Given the description of an element on the screen output the (x, y) to click on. 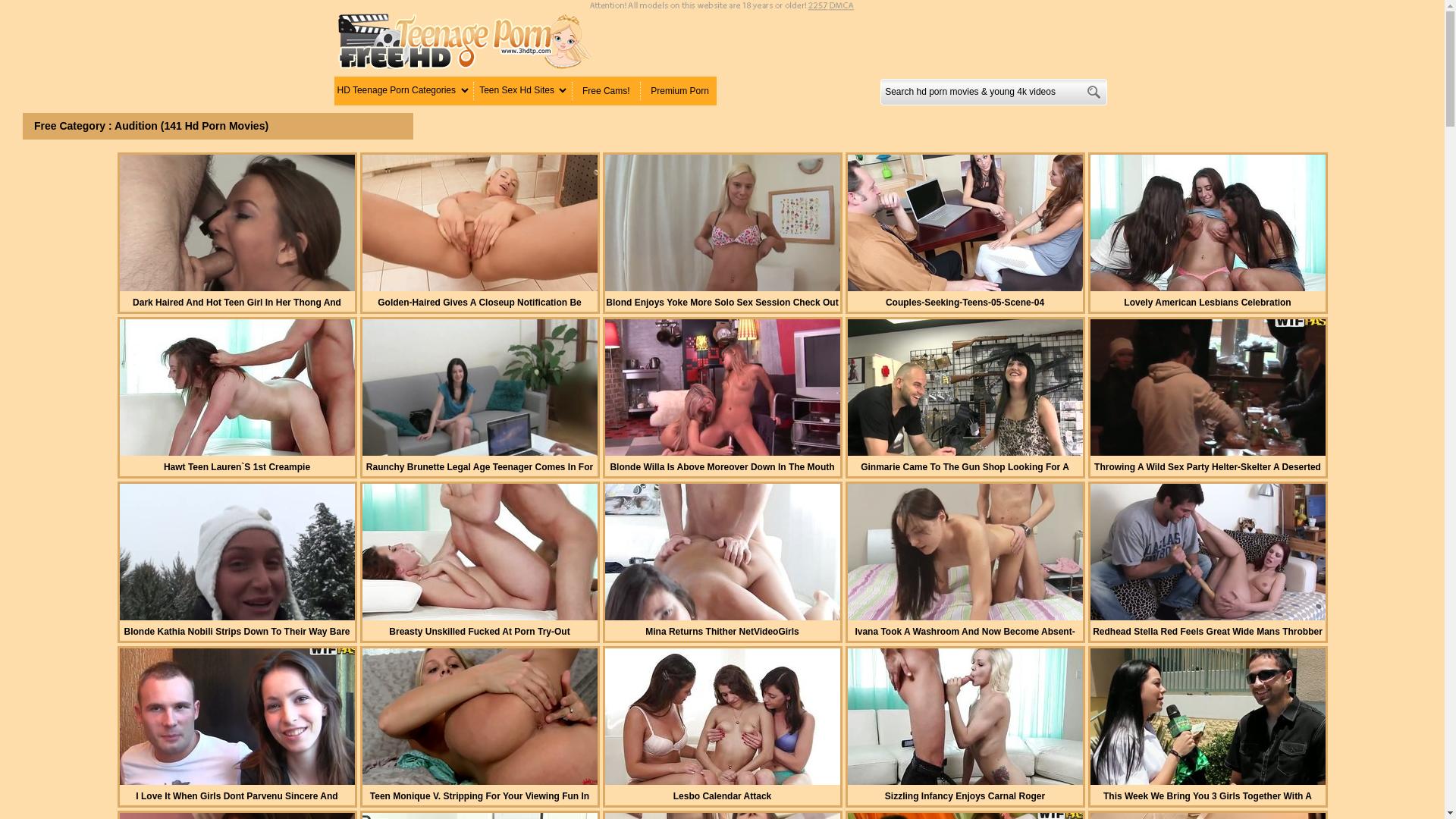
Free Cams! Element type: text (605, 90)
Premium Porn Element type: text (679, 90)
Search Element type: hover (1093, 91)
search Element type: text (1093, 91)
